Given the description of an element on the screen output the (x, y) to click on. 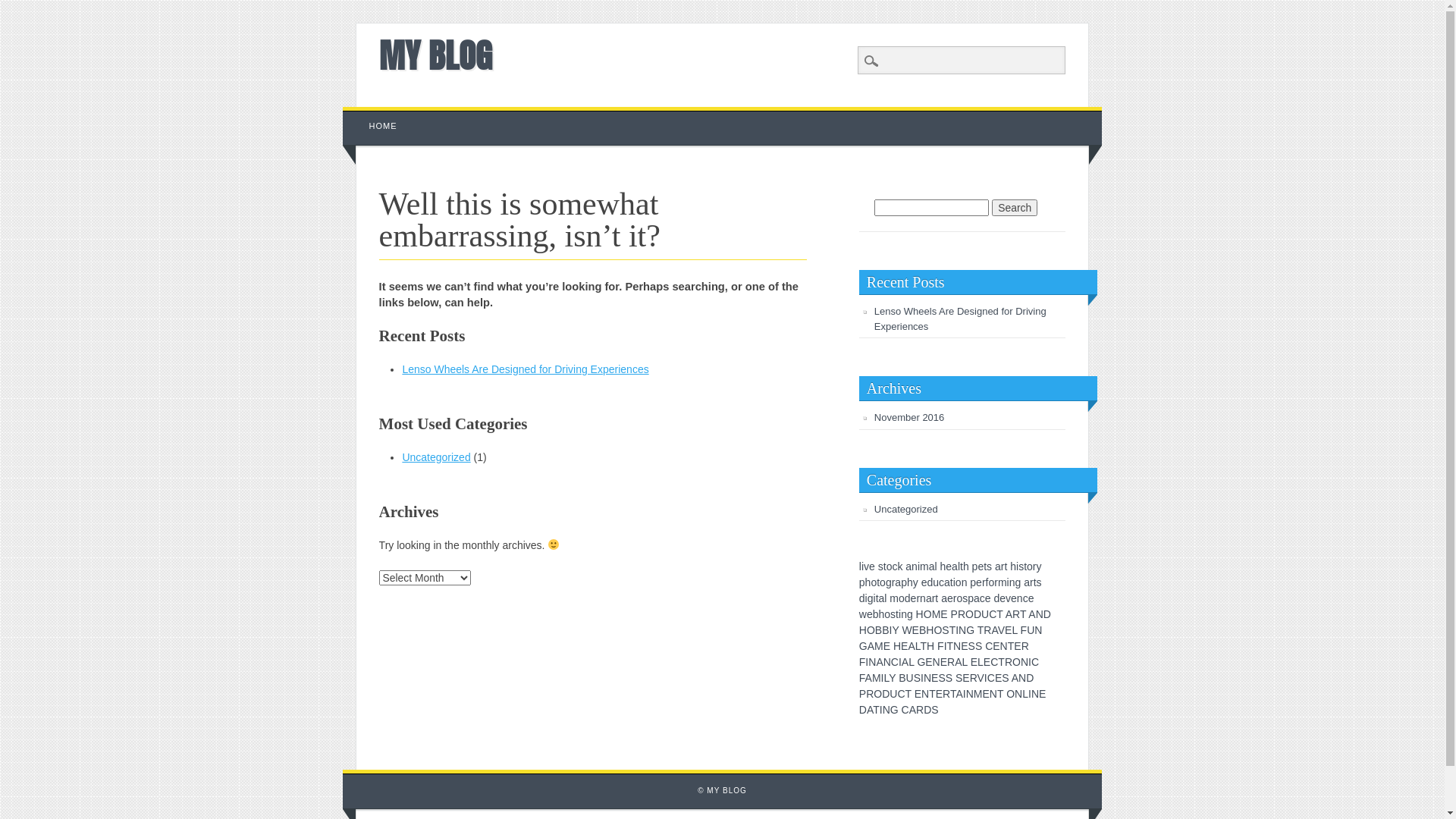
E Element type: text (1016, 646)
T Element type: text (952, 630)
h Element type: text (868, 582)
F Element type: text (940, 646)
W Element type: text (906, 630)
e Element type: text (978, 582)
T Element type: text (875, 709)
L Element type: text (980, 661)
F Element type: text (1023, 630)
O Element type: text (877, 693)
r Element type: text (995, 582)
I Element type: text (964, 693)
a Element type: text (928, 598)
R Element type: text (1015, 614)
v Element type: text (1007, 598)
N Element type: text (993, 693)
y Element type: text (915, 582)
A Element type: text (1031, 614)
t Element type: text (1024, 566)
T Element type: text (953, 693)
V Element type: text (980, 677)
o Element type: text (901, 598)
a Element type: text (908, 566)
r Element type: text (1002, 566)
E Element type: text (915, 630)
e Element type: text (1013, 598)
c Element type: text (1025, 598)
r Element type: text (917, 598)
c Element type: text (894, 566)
a Element type: text (881, 598)
Skip to content Element type: text (377, 114)
R Element type: text (987, 630)
o Element type: text (991, 582)
R Element type: text (973, 677)
s Element type: text (1020, 566)
t Element type: text (877, 582)
N Element type: text (956, 646)
e Element type: text (924, 582)
O Element type: text (870, 630)
D Element type: text (1029, 677)
E Element type: text (986, 661)
G Element type: text (863, 646)
H Element type: text (929, 630)
O Element type: text (1010, 693)
T Element type: text (1000, 693)
u Element type: text (935, 582)
H Element type: text (930, 646)
E Element type: text (886, 646)
e Element type: text (913, 598)
A Element type: text (870, 646)
N Element type: text (1034, 693)
s Element type: text (1038, 582)
M Element type: text (977, 693)
n Element type: text (922, 598)
I Element type: text (899, 661)
o Element type: text (959, 598)
B Element type: text (884, 630)
o Element type: text (889, 566)
V Element type: text (1000, 630)
t Element type: text (896, 614)
E Element type: text (903, 646)
E Element type: text (1041, 693)
S Element type: text (1004, 677)
A Element type: text (958, 693)
E Element type: text (1007, 630)
E Element type: text (973, 661)
h Element type: text (966, 566)
I Element type: text (880, 709)
G Element type: text (894, 709)
e Element type: text (988, 598)
d Element type: text (862, 598)
Y Element type: text (894, 630)
d Element type: text (996, 598)
a Element type: text (897, 582)
p Element type: text (903, 582)
a Element type: text (954, 566)
N Element type: text (1024, 661)
p Element type: text (862, 582)
P Element type: text (862, 693)
A Element type: text (994, 630)
t Element type: text (884, 566)
o Element type: text (887, 614)
Lenso Wheels Are Designed for Driving Experiences Element type: text (960, 318)
T Element type: text (1022, 614)
d Element type: text (907, 598)
t Element type: text (951, 582)
A Element type: text (957, 661)
r Element type: text (893, 582)
t Element type: text (984, 566)
i Element type: text (874, 598)
A Element type: text (904, 661)
r Element type: text (983, 582)
Search Element type: text (22, 8)
T Element type: text (980, 630)
S Element type: text (934, 709)
R Element type: text (919, 709)
S Element type: text (971, 646)
S Element type: text (944, 630)
l Element type: text (935, 566)
U Element type: text (984, 614)
k Element type: text (899, 566)
D Element type: text (977, 614)
U Element type: text (893, 693)
a Element type: text (976, 598)
I Element type: text (956, 630)
c Element type: text (982, 598)
A Element type: text (1014, 677)
N Element type: text (871, 661)
i Element type: text (862, 566)
l Element type: text (860, 566)
t Element type: text (961, 566)
E Element type: text (963, 646)
l Element type: text (958, 566)
N Element type: text (936, 661)
s Element type: text (964, 598)
r Element type: text (955, 598)
I Element type: text (985, 677)
r Element type: text (1031, 582)
v Element type: text (866, 566)
e Element type: text (948, 566)
s Element type: text (880, 566)
p Element type: text (972, 582)
Lenso Wheels Are Designed for Driving Experiences Element type: text (524, 369)
S Element type: text (941, 677)
A Element type: text (912, 709)
B Element type: text (901, 677)
A Element type: text (910, 646)
T Element type: text (950, 646)
I Element type: text (866, 661)
Y Element type: text (891, 677)
H Element type: text (862, 630)
h Element type: text (943, 566)
o Element type: text (873, 582)
L Element type: text (1013, 630)
t Element type: text (1034, 582)
n Element type: text (1012, 582)
N Element type: text (1039, 614)
n Element type: text (964, 582)
S Element type: text (916, 677)
e Element type: text (1002, 598)
h Element type: text (881, 614)
i Element type: text (866, 598)
o Element type: text (882, 582)
Search Element type: text (1014, 207)
N Element type: text (1003, 646)
I Element type: text (945, 646)
a Element type: text (1026, 582)
E Element type: text (938, 693)
R Element type: text (1008, 661)
N Element type: text (969, 693)
A Element type: text (1008, 614)
L Element type: text (917, 646)
e Element type: text (872, 566)
F Element type: text (862, 661)
w Element type: text (862, 614)
E Element type: text (934, 677)
H Element type: text (919, 614)
N Element type: text (1018, 693)
E Element type: text (917, 693)
T Element type: text (923, 646)
i Element type: text (899, 614)
R Element type: text (950, 661)
m Element type: text (923, 566)
i Element type: text (1017, 566)
N Element type: text (927, 677)
O Element type: text (927, 614)
E Element type: text (997, 677)
T Element type: text (1000, 661)
E Element type: text (995, 646)
C Element type: text (894, 661)
D Element type: text (927, 709)
e Element type: text (869, 614)
F Element type: text (862, 677)
p Element type: text (975, 566)
C Element type: text (1034, 661)
Uncategorized Element type: text (906, 508)
d Element type: text (929, 582)
M Element type: text (876, 677)
T Element type: text (1010, 646)
B Element type: text (922, 630)
s Element type: text (988, 566)
t Element type: text (936, 598)
U Element type: text (909, 677)
y Element type: text (1038, 566)
g Element type: text (888, 582)
m Element type: text (893, 598)
I Element type: text (889, 630)
N Element type: text (886, 709)
D Element type: text (862, 709)
O Element type: text (969, 614)
R Element type: text (1025, 646)
e Element type: text (1031, 598)
E Element type: text (928, 661)
I Element type: text (1029, 693)
A Element type: text (878, 661)
r Element type: text (1034, 566)
n Element type: text (1019, 598)
o Element type: text (958, 582)
C Element type: text (993, 661)
m Element type: text (1002, 582)
I Element type: text (882, 677)
T Element type: text (908, 693)
I Element type: text (921, 677)
C Element type: text (992, 614)
E Element type: text (943, 661)
t Element type: text (876, 598)
S Element type: text (948, 677)
R Element type: text (961, 614)
M Element type: text (878, 646)
o Element type: text (1029, 566)
N Element type: text (924, 693)
G Element type: text (970, 630)
i Element type: text (954, 582)
l Element type: text (885, 598)
b Element type: text (875, 614)
E Element type: text (985, 693)
HOME Element type: text (383, 125)
E Element type: text (965, 677)
P Element type: text (953, 614)
p Element type: text (970, 598)
G Element type: text (920, 661)
R Element type: text (946, 693)
s Element type: text (892, 614)
g Element type: text (909, 614)
MY BLOG Element type: text (435, 55)
E Element type: text (943, 614)
T Element type: text (999, 614)
H Element type: text (896, 646)
a Element type: text (997, 566)
i Element type: text (1008, 582)
r Element type: text (933, 598)
R Element type: text (869, 693)
L Element type: text (885, 677)
h Element type: text (909, 582)
D Element type: text (1047, 614)
N Element type: text (1037, 630)
M Element type: text (936, 614)
O Element type: text (937, 630)
N Element type: text (962, 630)
O Element type: text (1016, 661)
h Element type: text (1013, 566)
S Element type: text (958, 677)
g Element type: text (1018, 582)
e Element type: text (980, 566)
C Element type: text (900, 693)
November 2016 Element type: text (909, 417)
N Element type: text (887, 661)
g Element type: text (870, 598)
n Element type: text (914, 566)
A Element type: text (869, 709)
C Element type: text (990, 677)
B Element type: text (878, 630)
C Element type: text (905, 709)
a Element type: text (931, 566)
f Element type: text (986, 582)
n Element type: text (903, 614)
a Element type: text (944, 598)
D Element type: text (885, 693)
i Element type: text (918, 566)
L Element type: text (910, 661)
L Element type: text (964, 661)
U Element type: text (1030, 630)
t Element type: text (1005, 566)
L Element type: text (1025, 693)
A Element type: text (868, 677)
I Element type: text (1029, 661)
S Element type: text (978, 646)
Uncategorized Element type: text (435, 457)
N Element type: text (1022, 677)
e Element type: text (950, 598)
a Element type: text (947, 582)
c Element type: text (941, 582)
T Element type: text (931, 693)
C Element type: text (988, 646)
